Given the description of an element on the screen output the (x, y) to click on. 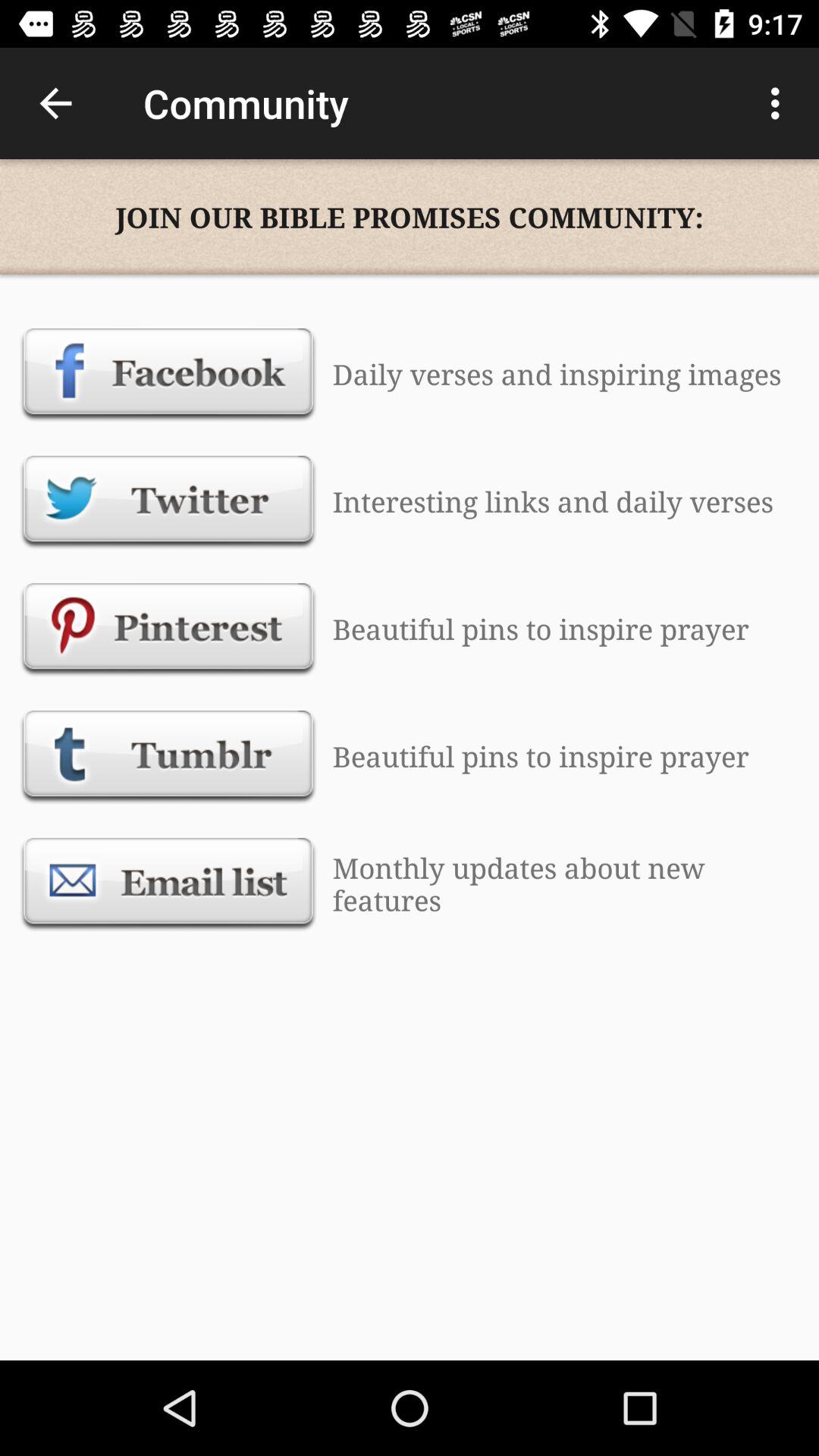
toggle facebook (167, 374)
